Given the description of an element on the screen output the (x, y) to click on. 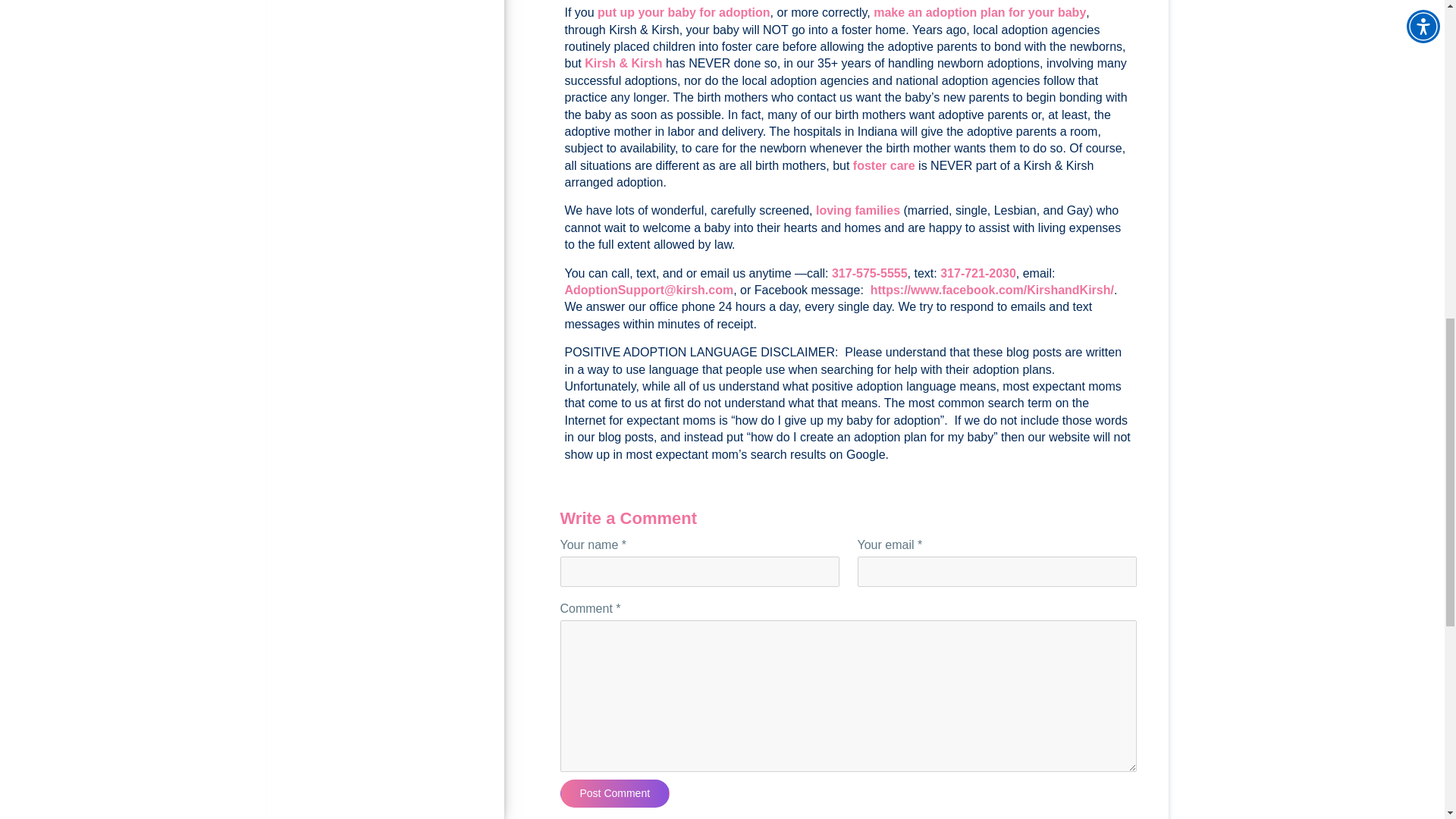
Post Comment (614, 793)
317-575-5555 (869, 273)
317-721-2030 (978, 273)
loving families (857, 210)
make an adoption plan for your baby (979, 11)
foster care (884, 164)
Post Comment (614, 793)
put up your baby for adoption (683, 11)
